Given the description of an element on the screen output the (x, y) to click on. 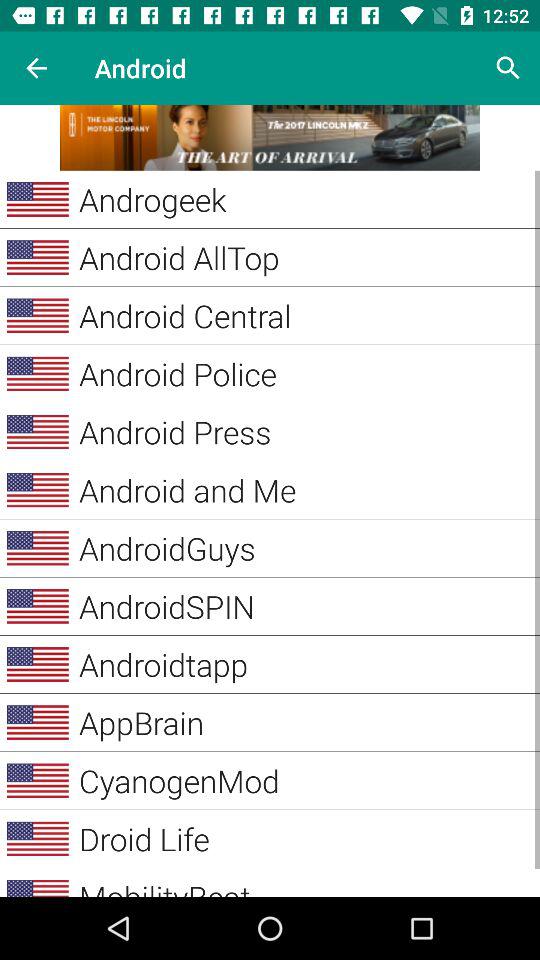
start to search (508, 67)
